Given the description of an element on the screen output the (x, y) to click on. 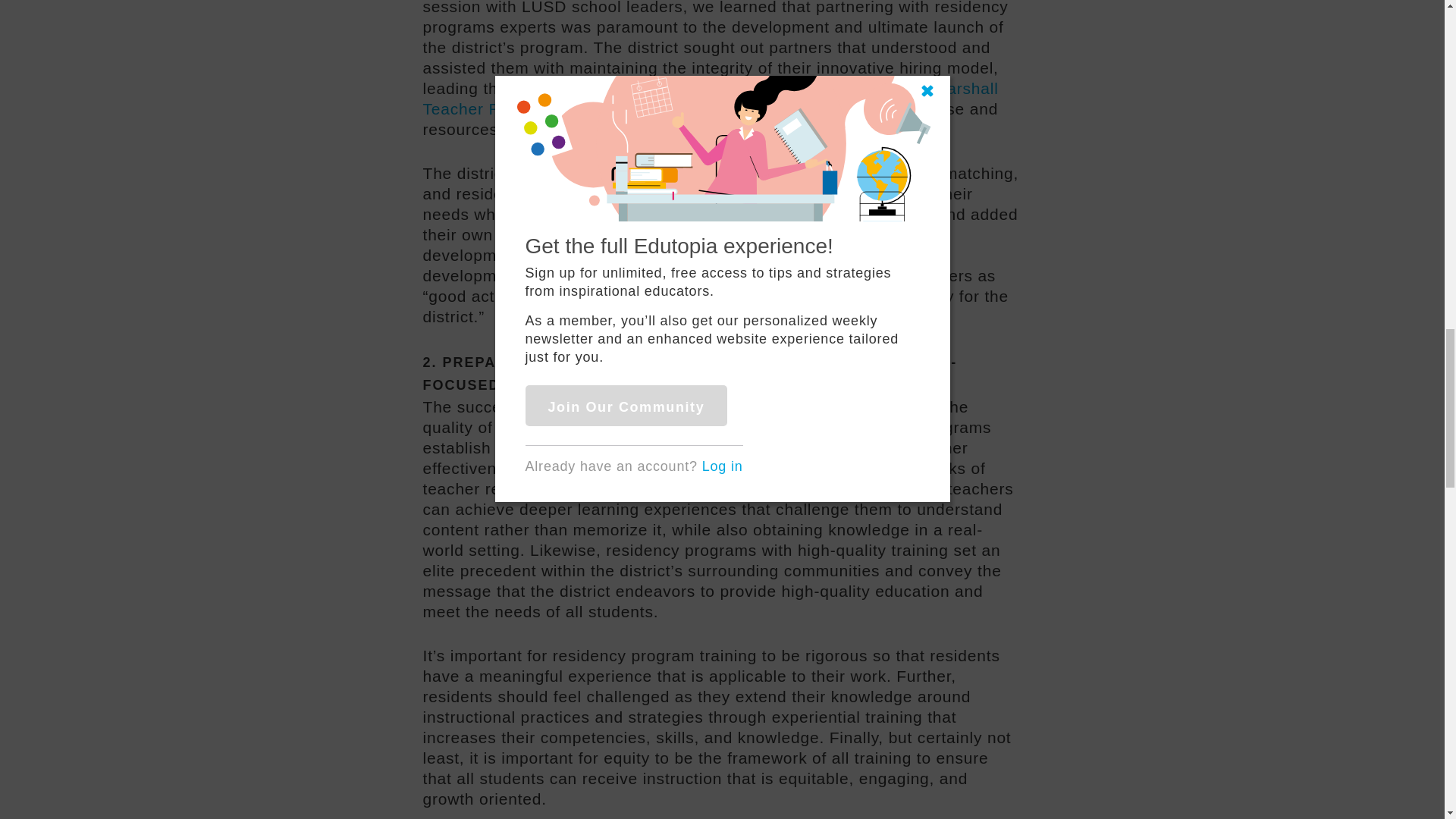
Marshall Teacher Residency (710, 98)
Alder Graduate School of Education (750, 88)
rigorous, experiential training (825, 488)
